Given the description of an element on the screen output the (x, y) to click on. 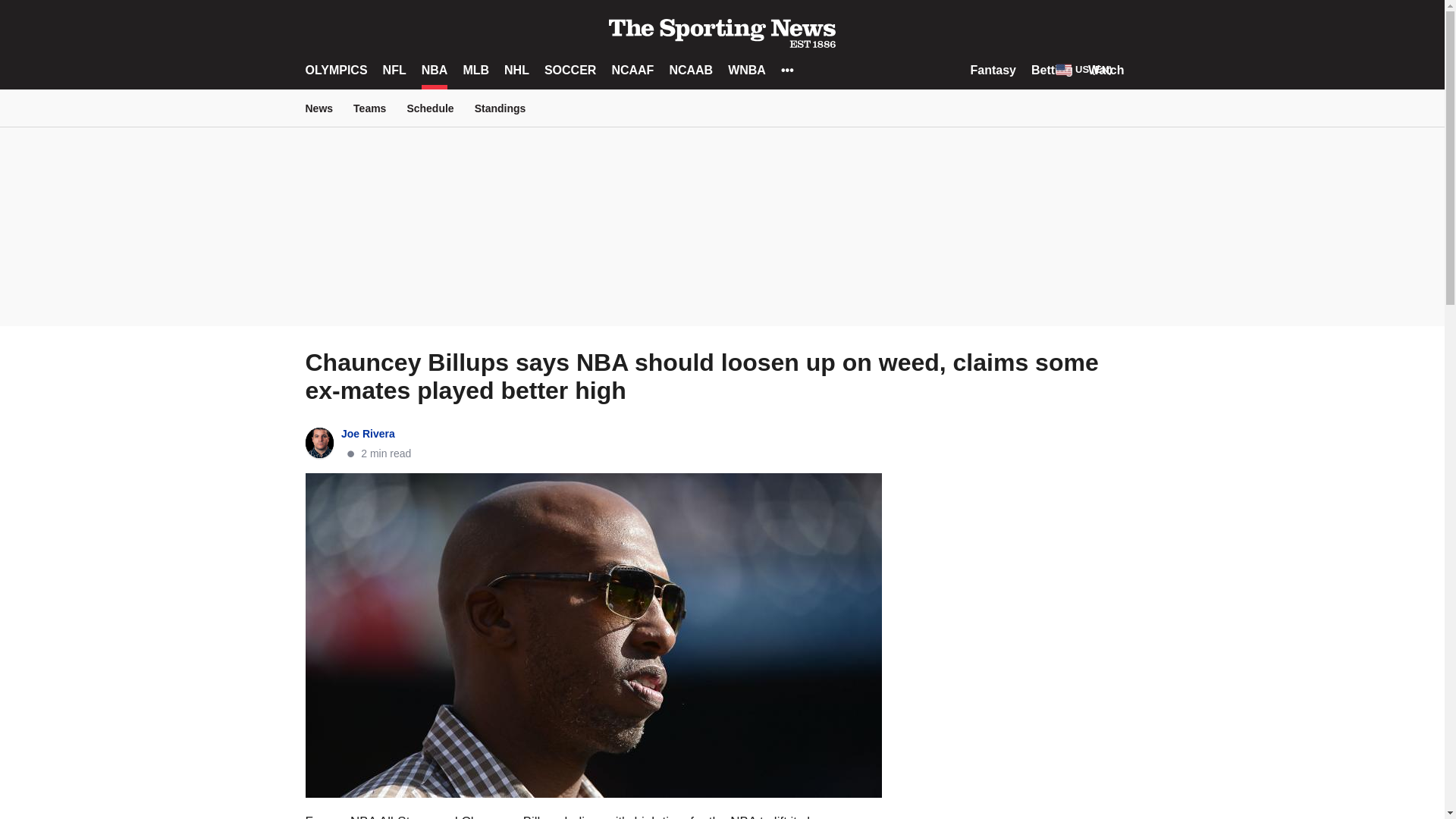
WNBA (746, 70)
OLYMPICS (335, 70)
NCAAB (690, 70)
SOCCER (569, 70)
NCAAF (632, 70)
